Given the description of an element on the screen output the (x, y) to click on. 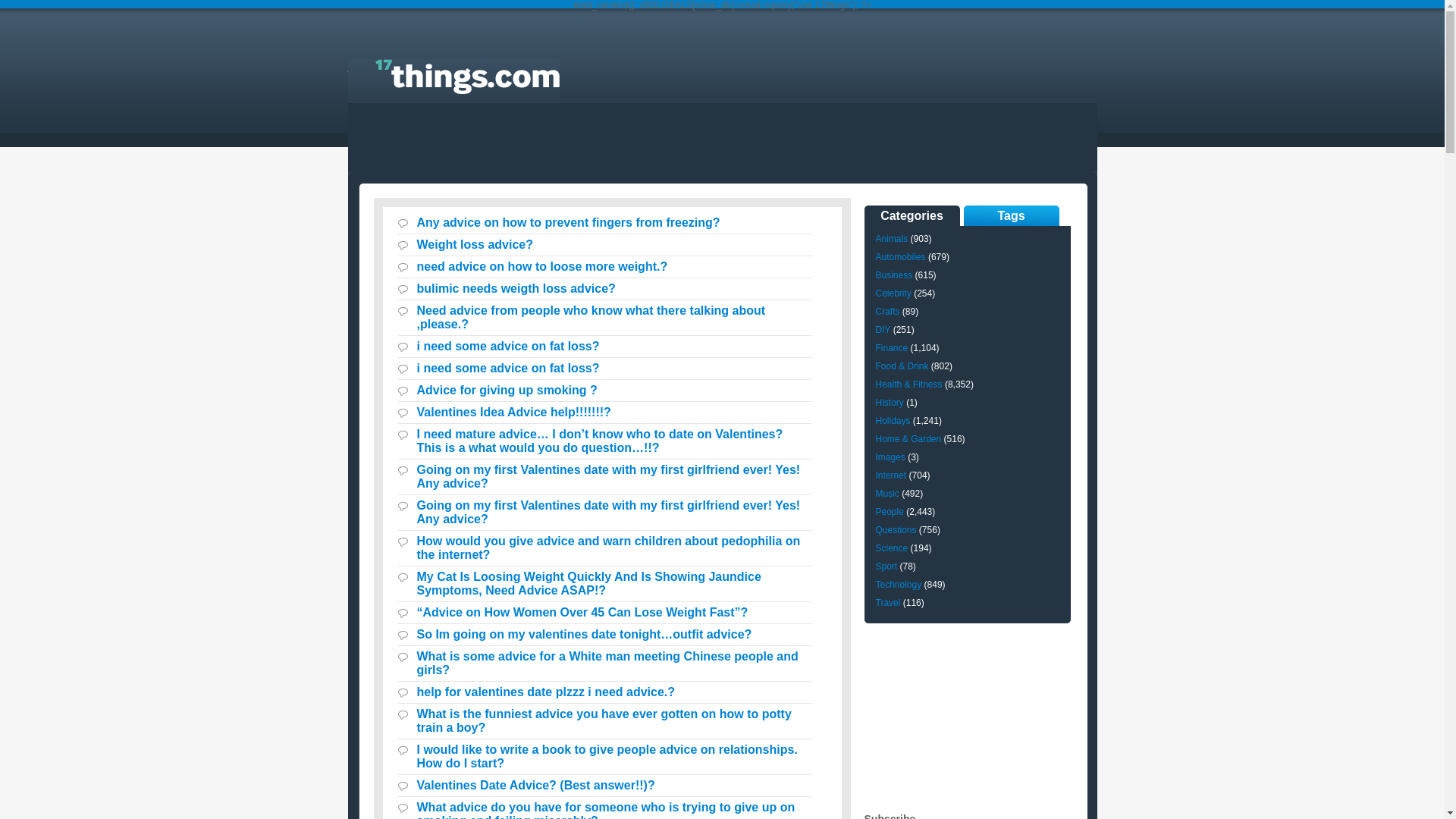
Categories Element type: text (912, 215)
Music Element type: text (886, 493)
i need some advice on fat loss? Element type: text (508, 345)
Celebrity Element type: text (892, 293)
Tags Element type: text (1010, 215)
need advice on how to loose more weight.? Element type: text (542, 266)
Animals Element type: text (891, 238)
Questions Element type: text (895, 529)
Weight loss advice? Element type: text (475, 244)
Valentines Date Advice? (Best answer!!)? Element type: text (536, 784)
Technology Element type: text (898, 584)
Business Element type: text (893, 274)
Any advice on how to prevent fingers from freezing? Element type: text (568, 222)
Food & Drink Element type: text (901, 365)
help for valentines date plzzz i need advice.? Element type: text (546, 691)
People Element type: text (889, 511)
i need some advice on fat loss? Element type: text (508, 367)
Finance Element type: text (891, 347)
Science Element type: text (891, 547)
Holidays Element type: text (892, 420)
History Element type: text (889, 402)
bulimic needs weigth loss advice? Element type: text (516, 288)
Home & Garden Element type: text (908, 438)
Health & Fitness Element type: text (908, 384)
Advice for giving up smoking ? Element type: text (507, 389)
Internet Element type: text (890, 475)
Sport Element type: text (886, 566)
DIY Element type: text (882, 329)
Valentines Idea Advice help!!!!!!!? Element type: text (514, 411)
Automobiles Element type: text (900, 256)
Travel Element type: text (887, 602)
Crafts Element type: text (887, 311)
Images Element type: text (889, 456)
